Given the description of an element on the screen output the (x, y) to click on. 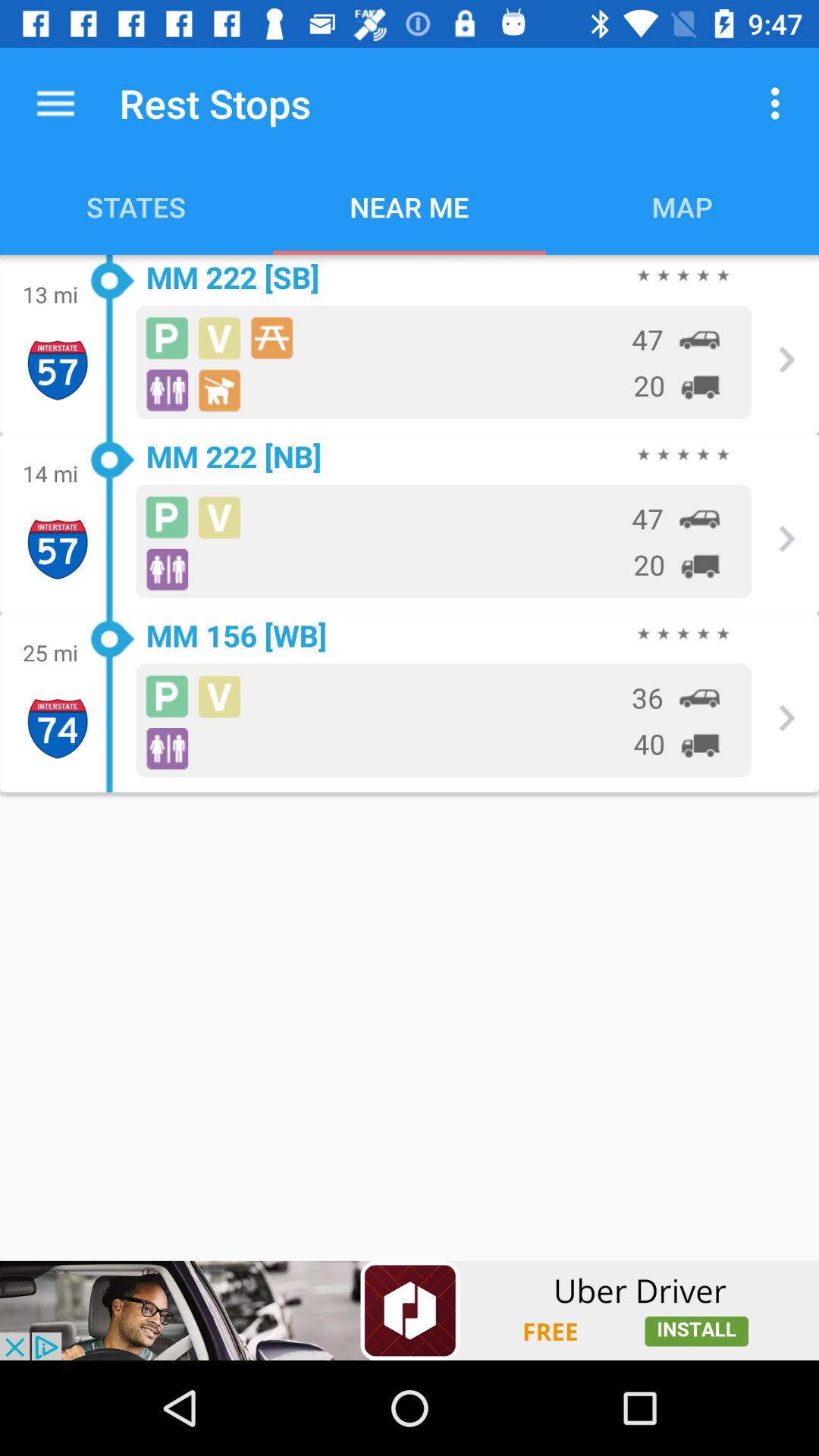
go to addverdisment (409, 1310)
